Given the description of an element on the screen output the (x, y) to click on. 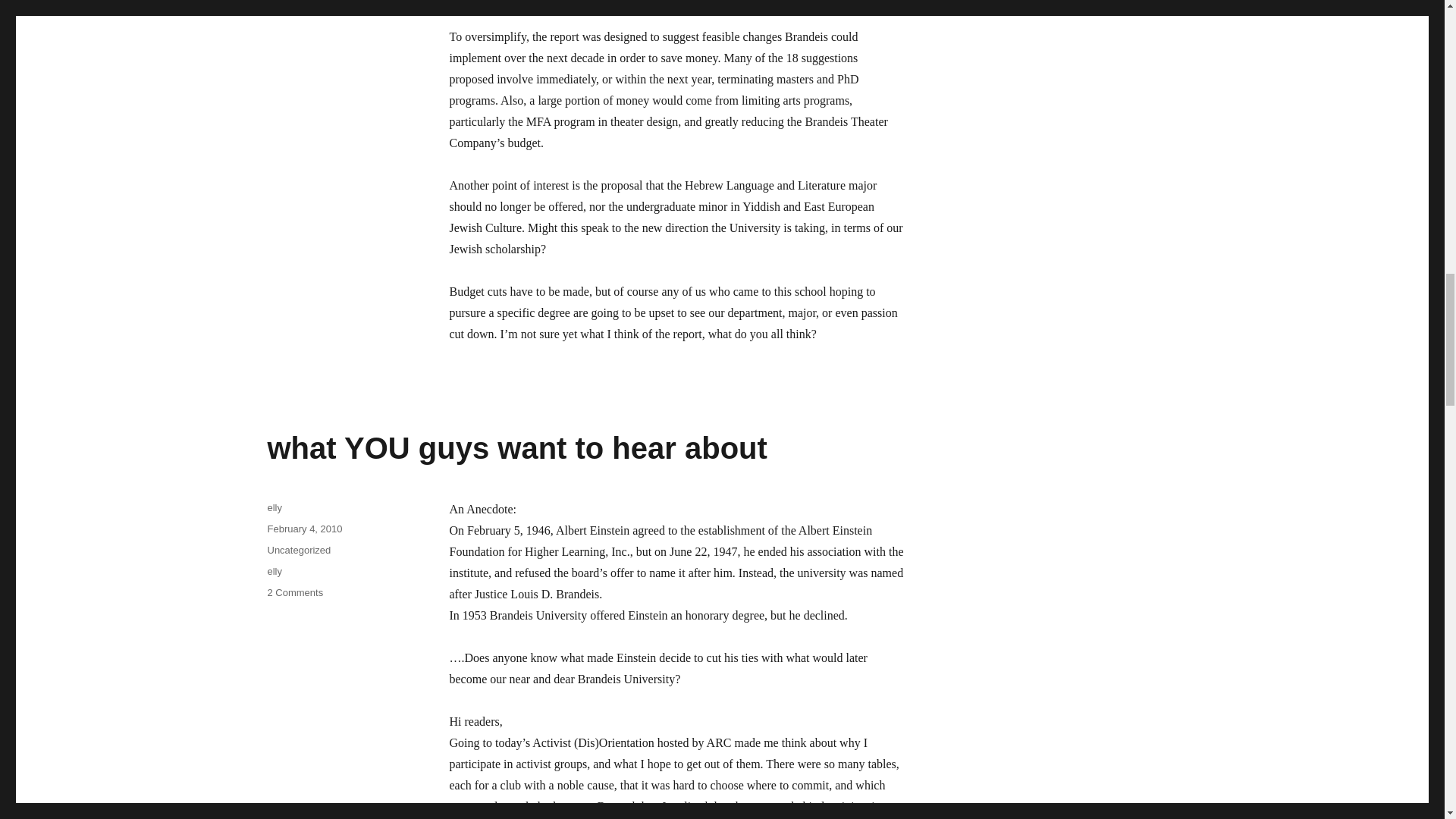
February 4, 2010 (304, 528)
elly (274, 571)
Uncategorized (298, 550)
elly (274, 507)
what YOU guys want to hear about (294, 592)
